Given the description of an element on the screen output the (x, y) to click on. 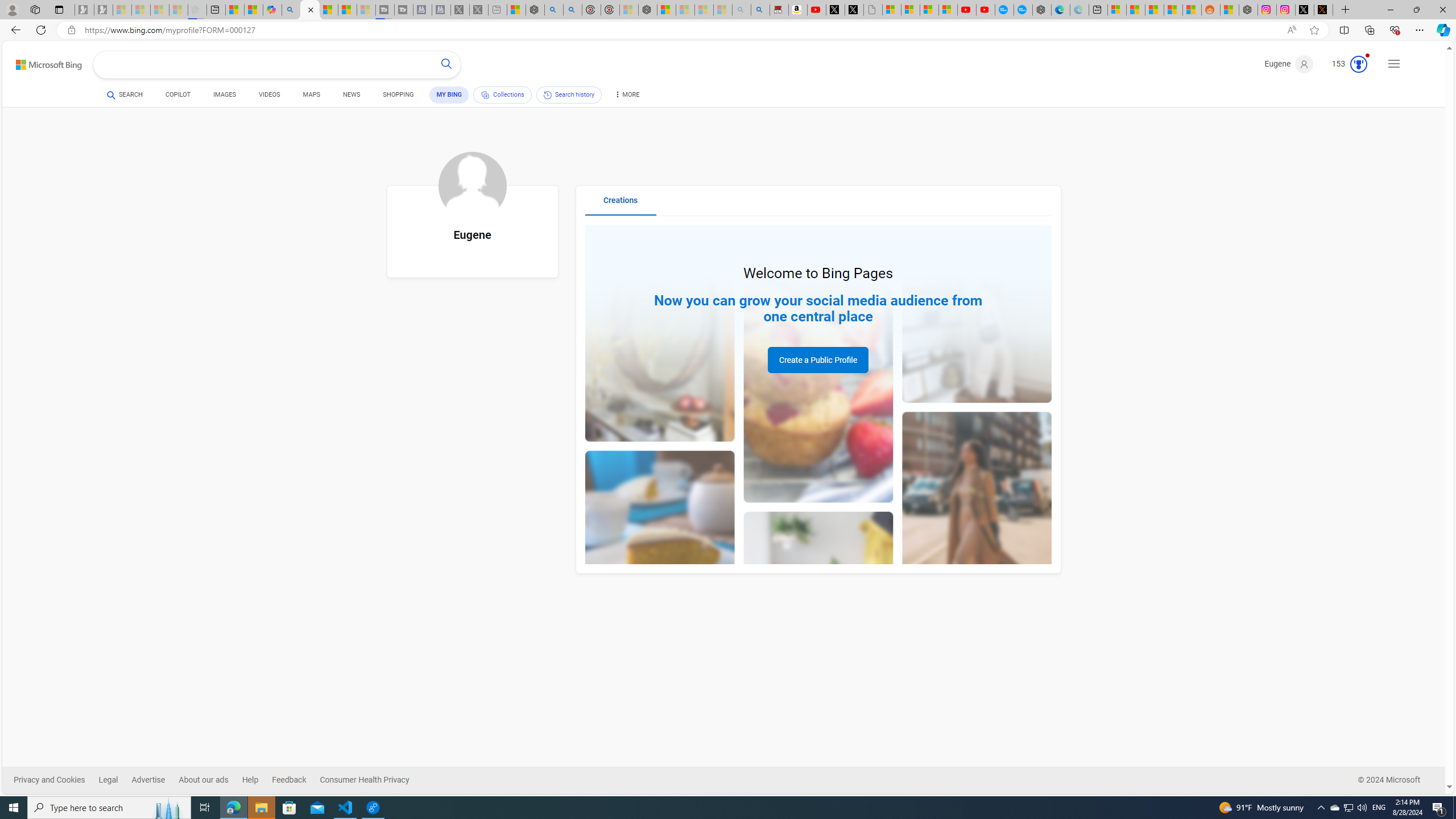
Legal (115, 780)
Help (250, 779)
Day 1: Arriving in Yemen (surreal to be here) - YouTube (816, 9)
Creations (620, 204)
NEWS (350, 94)
About our ads (203, 779)
Search history (568, 94)
SHOPPING (397, 96)
amazon - Search - Sleeping (741, 9)
